Given the description of an element on the screen output the (x, y) to click on. 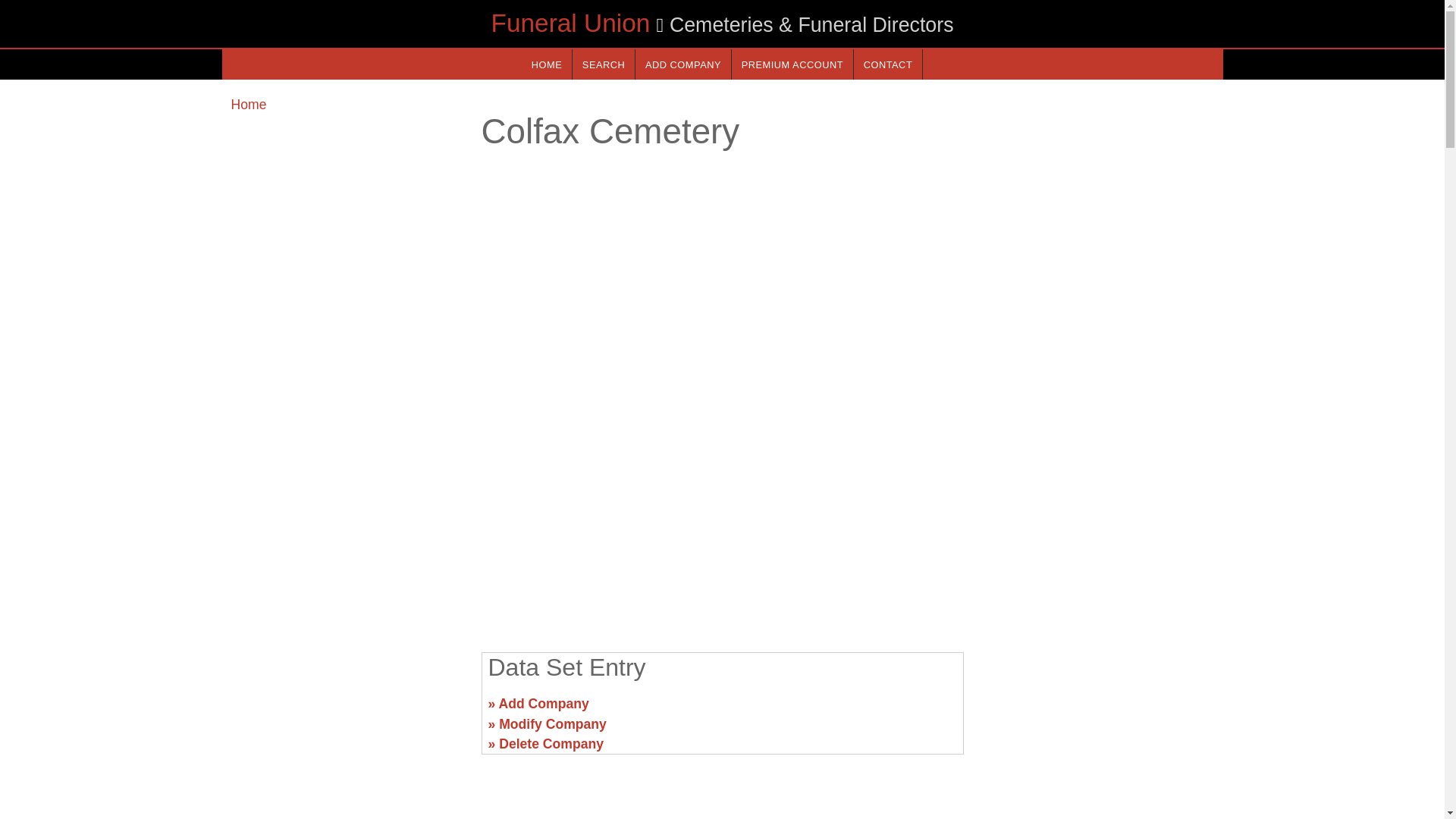
Funeral Union (569, 22)
Premium account (792, 64)
Home (248, 104)
Search in this webseite. (603, 64)
CONTACT (887, 64)
Advertisement (1096, 710)
ADD COMPANY (682, 64)
SEARCH (603, 64)
Advertisement (346, 710)
PREMIUM ACCOUNT (792, 64)
HOME (546, 64)
Advertisement (721, 522)
Add a new company (682, 64)
